Given the description of an element on the screen output the (x, y) to click on. 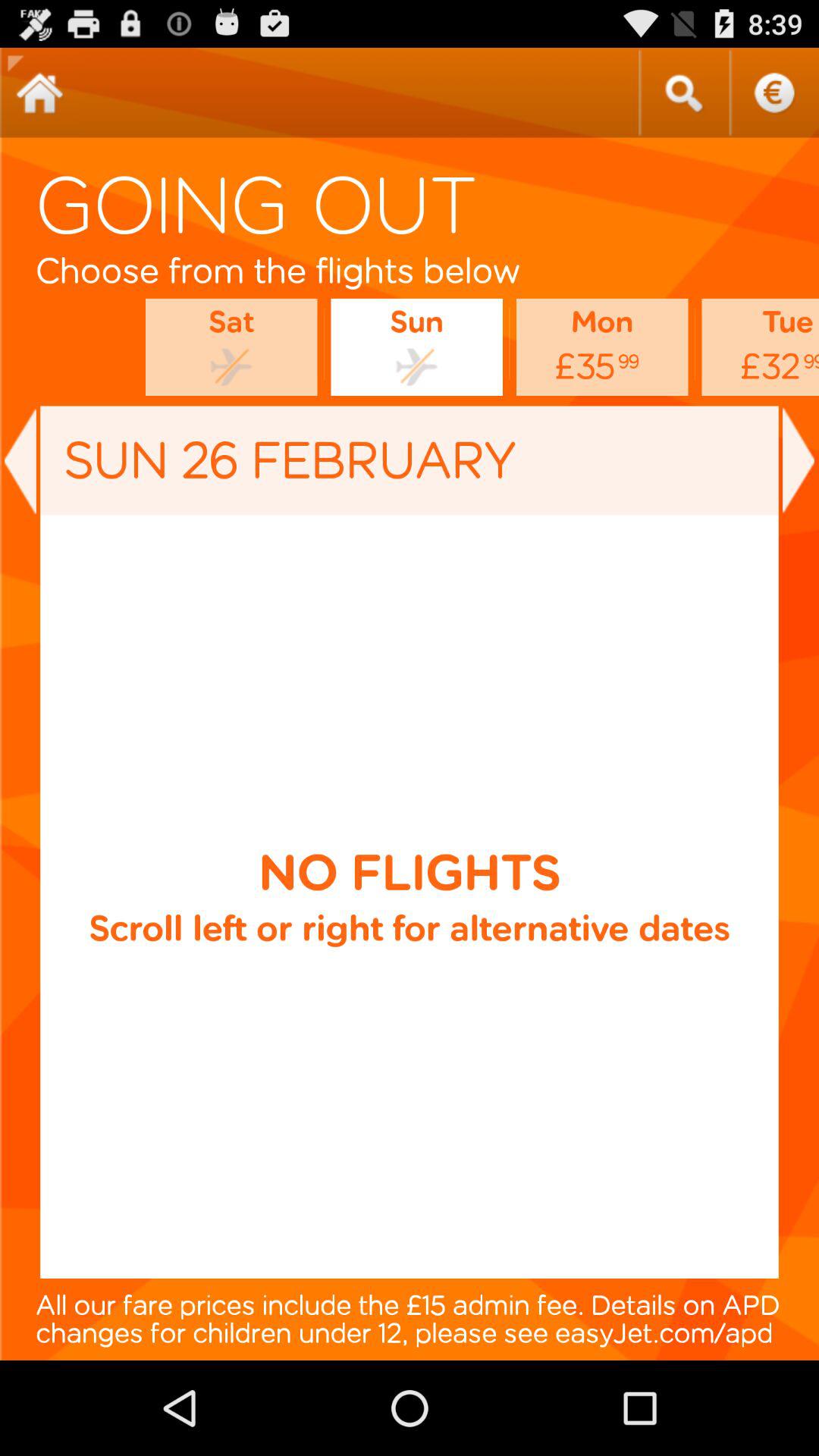
price in euro (774, 92)
